Given the description of an element on the screen output the (x, y) to click on. 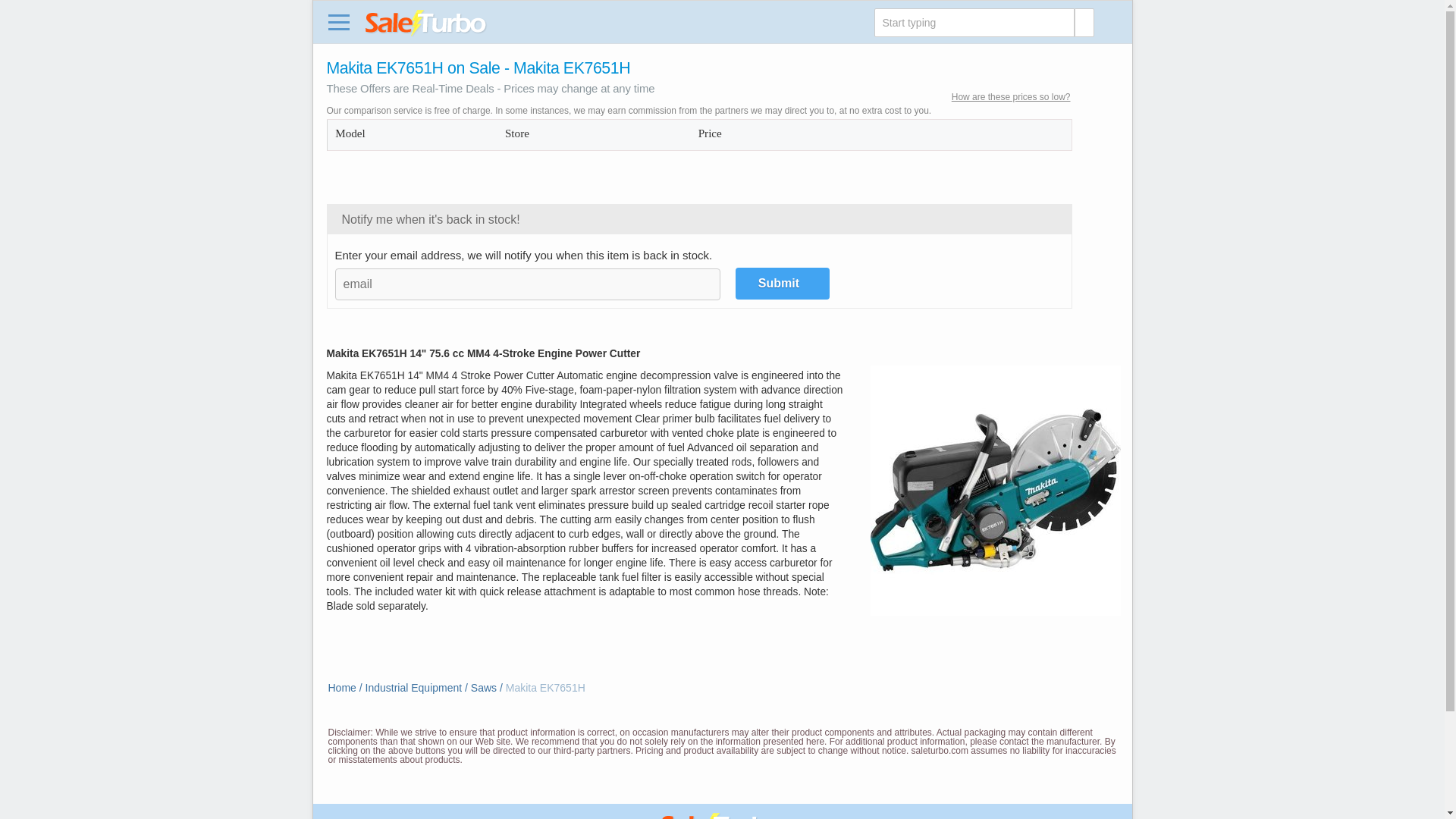
2 characters minimum (973, 22)
